Given the description of an element on the screen output the (x, y) to click on. 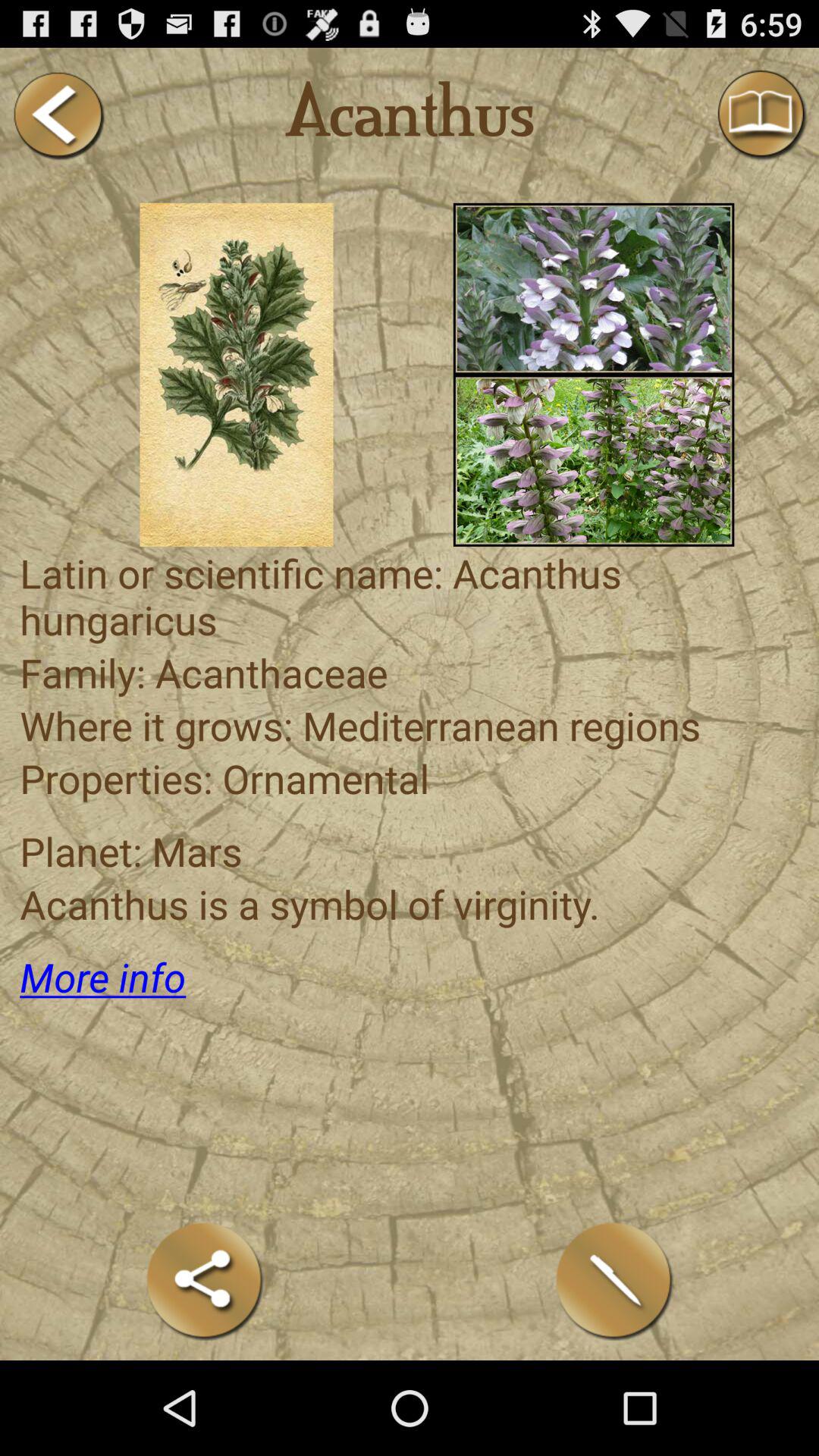
picture button (593, 460)
